Given the description of an element on the screen output the (x, y) to click on. 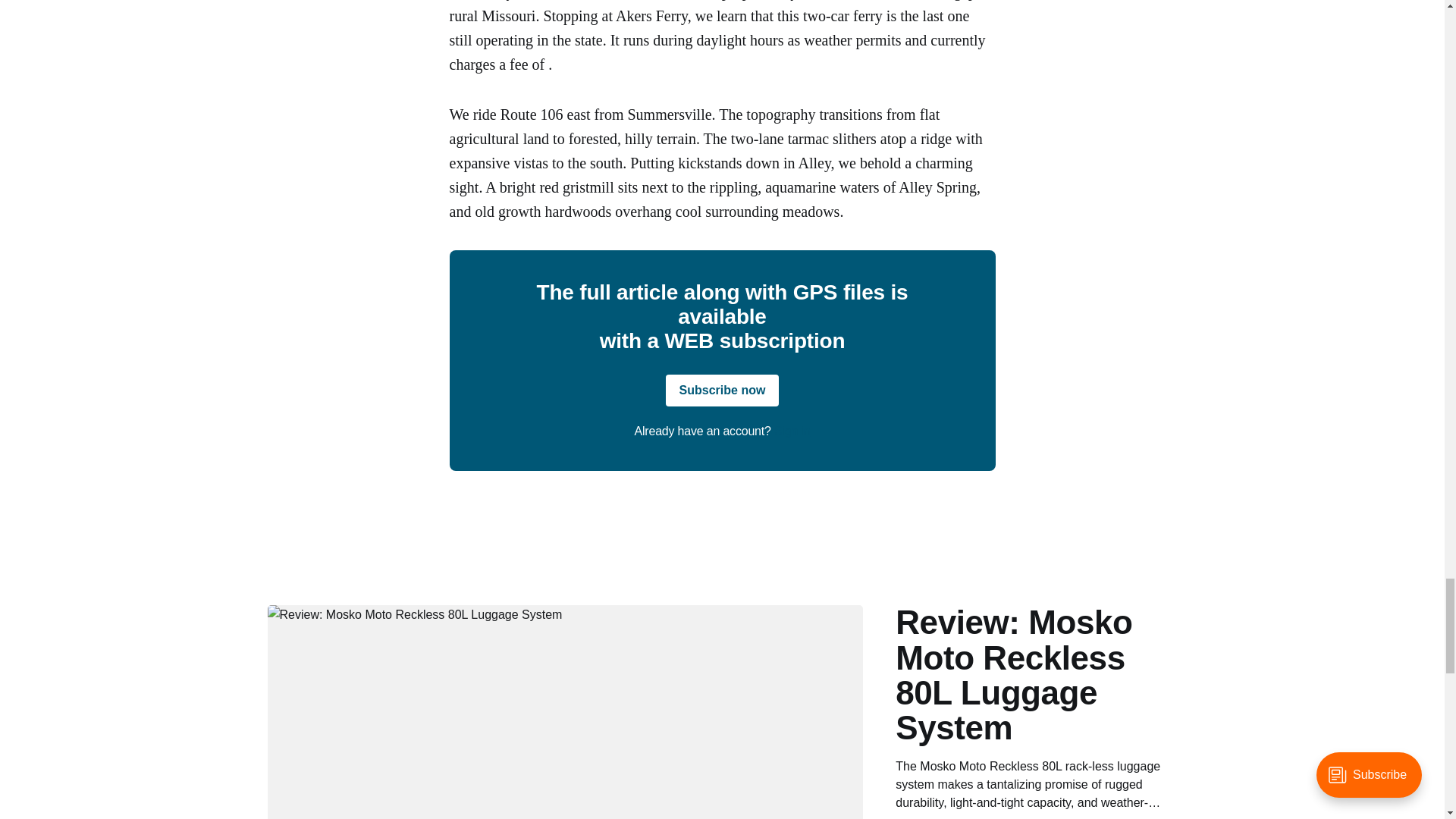
Sign in (792, 431)
Subscribe now (721, 390)
